Given the description of an element on the screen output the (x, y) to click on. 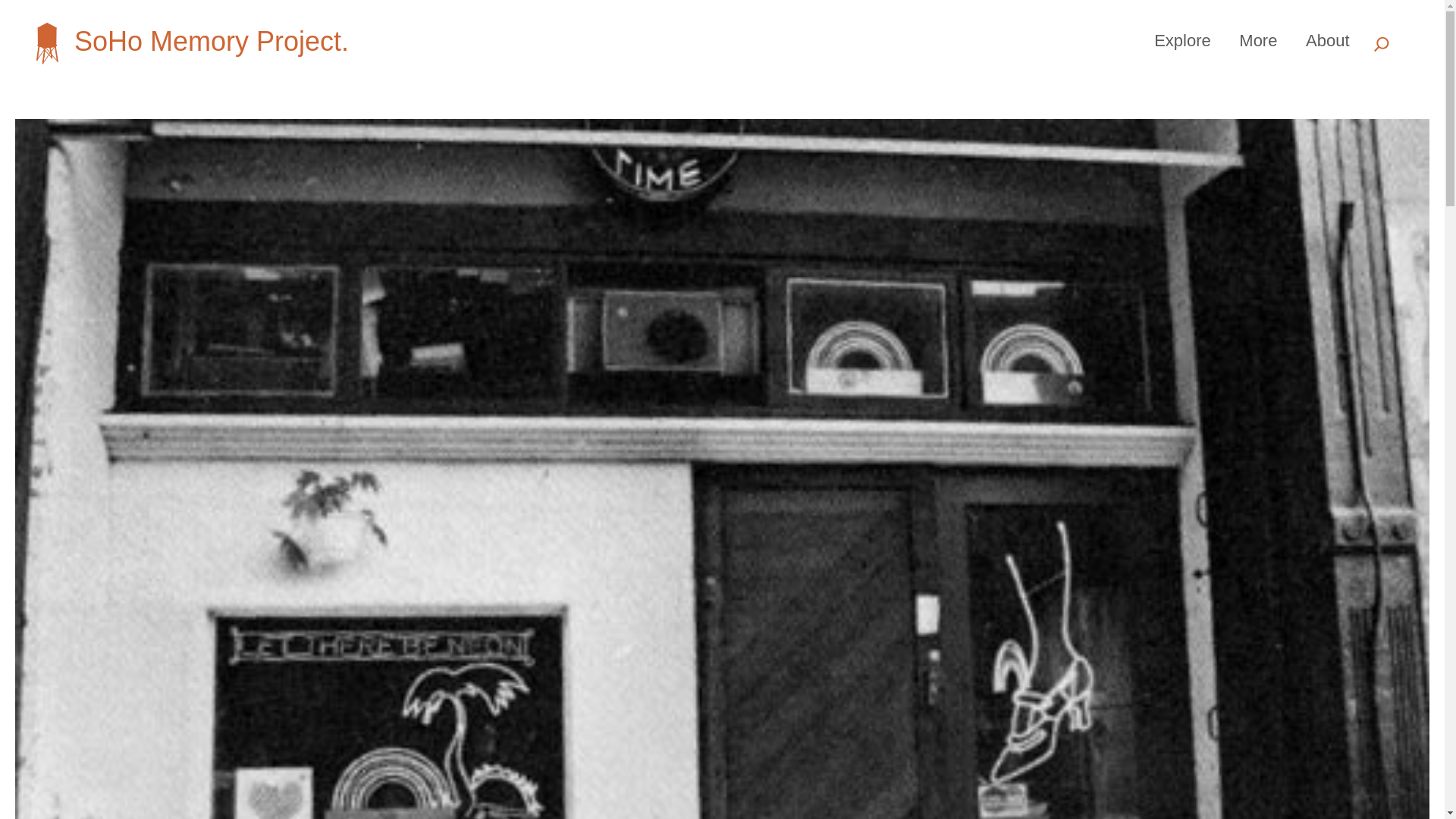
About (1327, 40)
Explore (1182, 40)
More (1257, 40)
SoHo Memory Project. (211, 40)
